Given the description of an element on the screen output the (x, y) to click on. 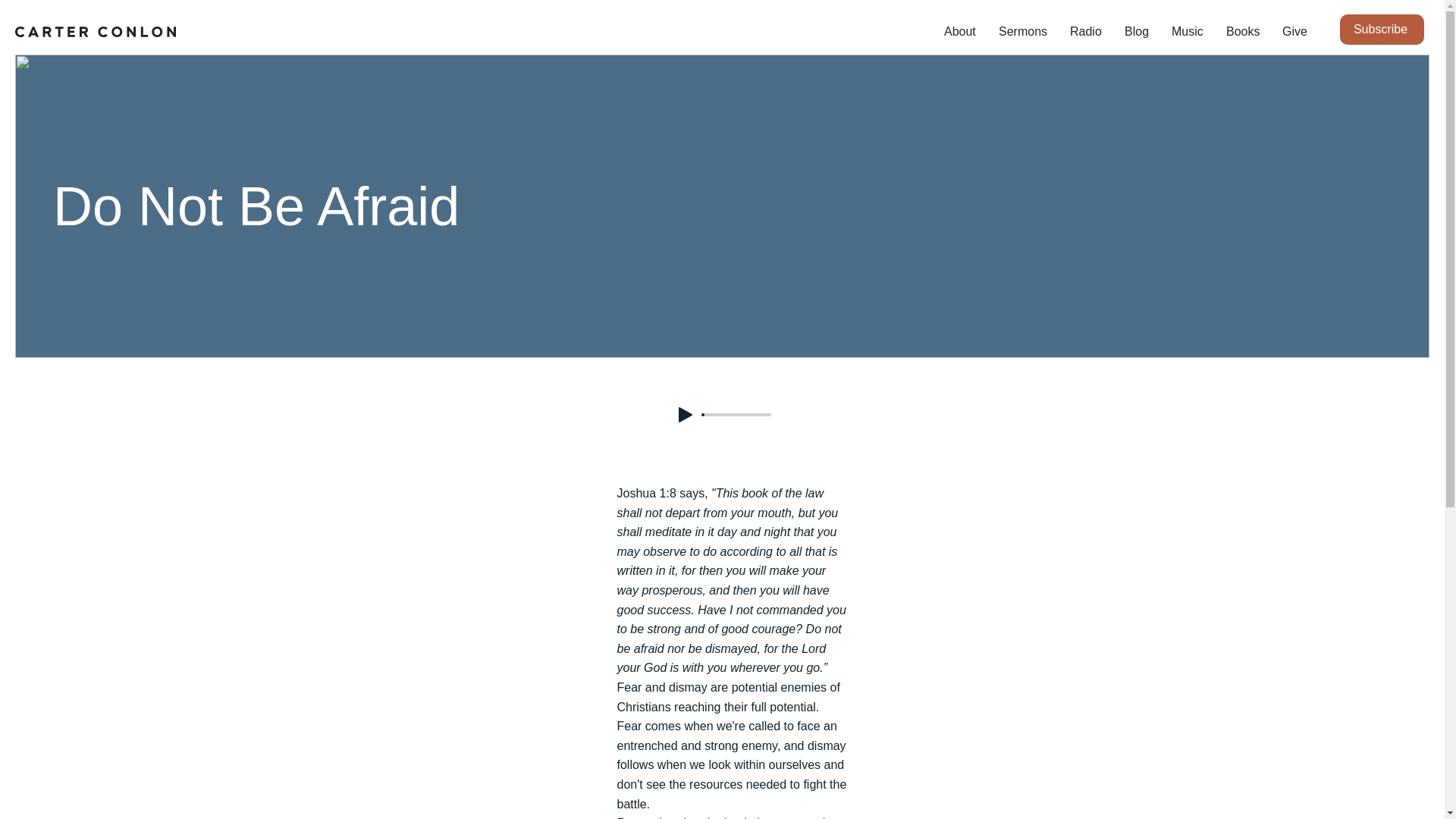
Subscribe (1381, 29)
0 (735, 414)
Books (1242, 31)
Music (1187, 31)
Blog (1136, 31)
Give (1295, 31)
About (960, 31)
Sermons (1022, 31)
Radio (1085, 31)
